Given the description of an element on the screen output the (x, y) to click on. 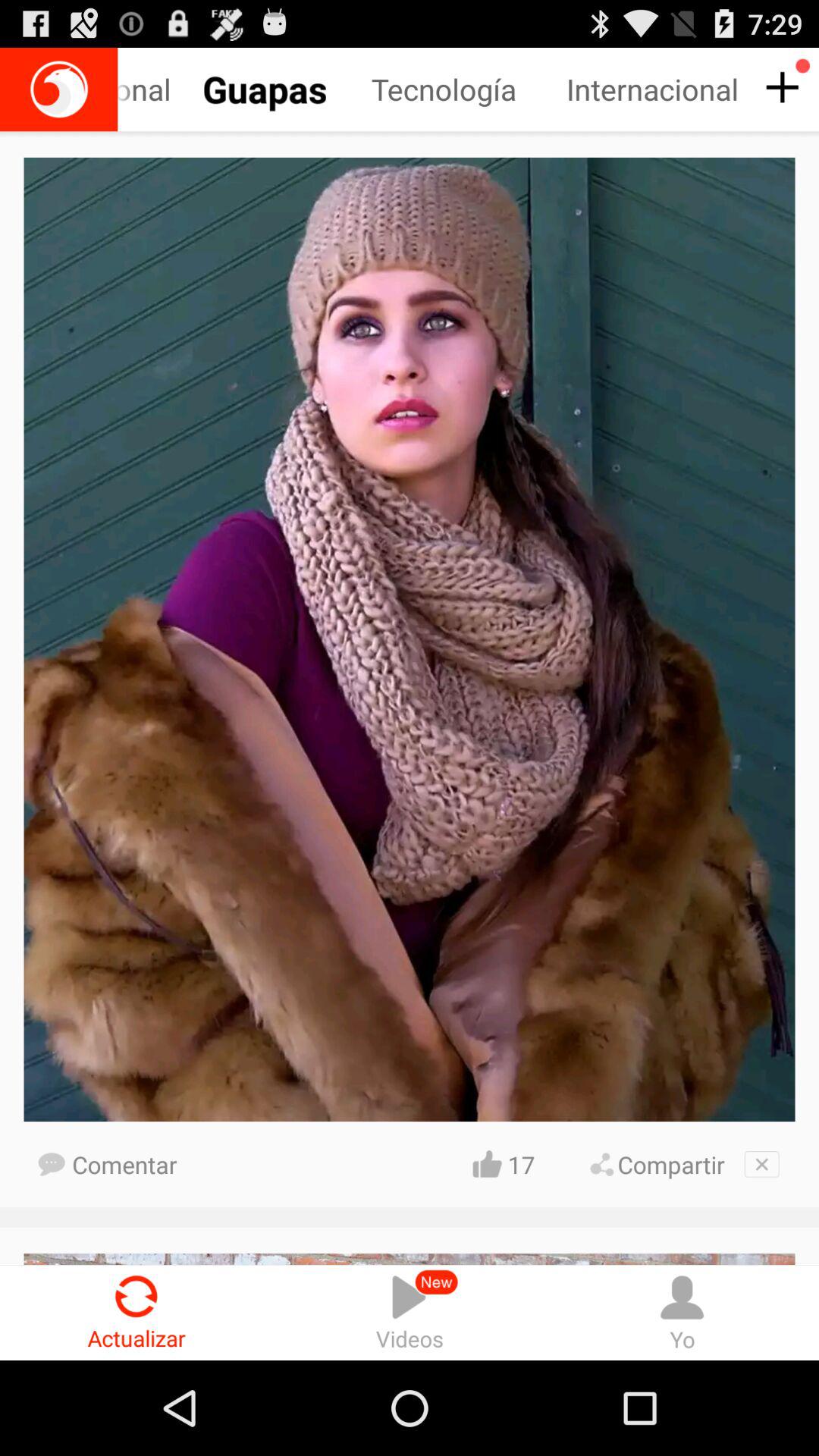
add content (779, 87)
